Given the description of an element on the screen output the (x, y) to click on. 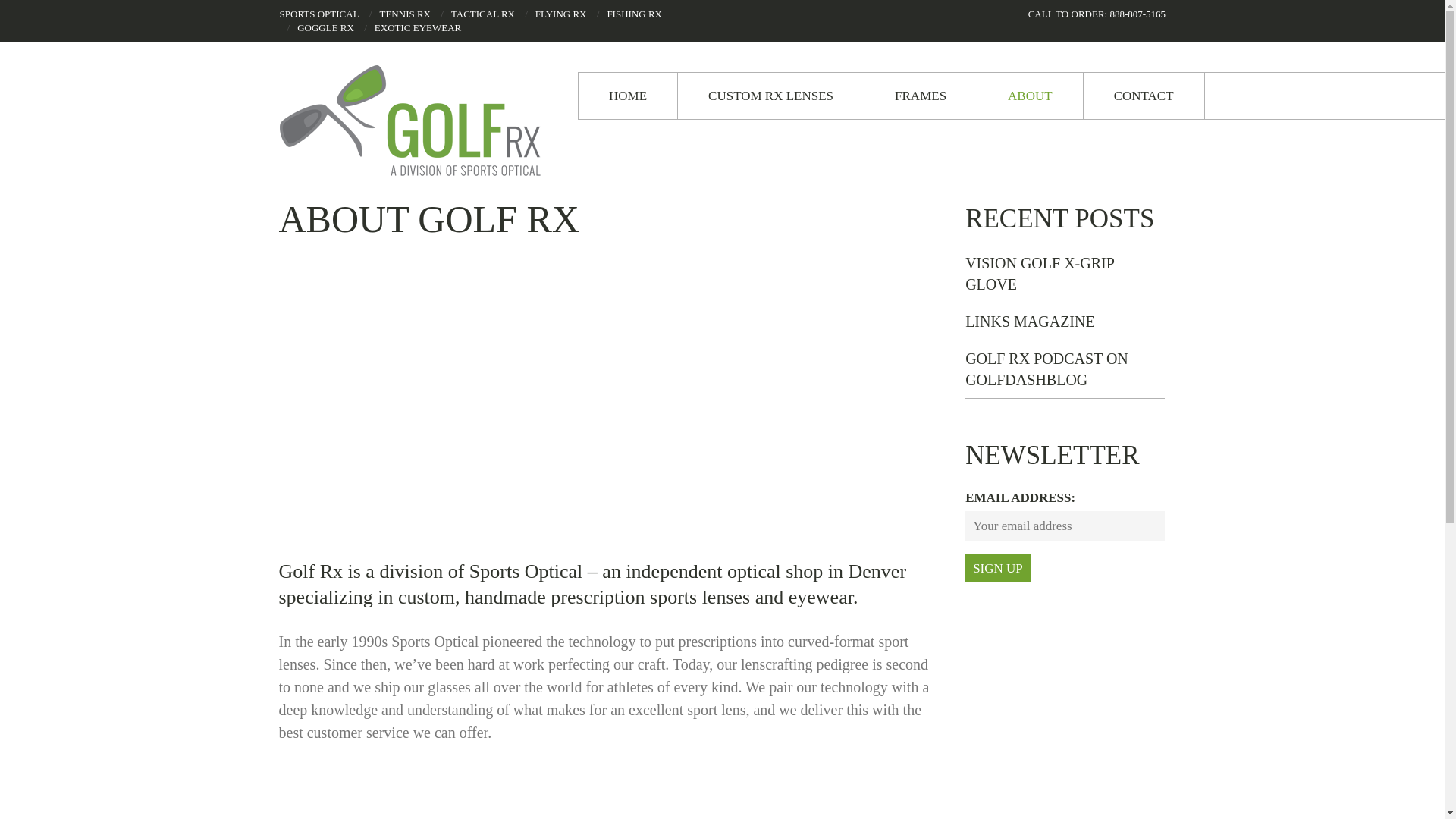
TACTICAL RX (483, 13)
GOLF RX PODCAST ON GOLFDASHBLOG (1046, 369)
FLYING RX (560, 13)
Sign up (997, 568)
GOGGLE RX (325, 27)
VISION GOLF X-GRIP GLOVE (1039, 273)
Sign up (997, 568)
CUSTOM RX LENSES (770, 95)
EXOTIC EYEWEAR (417, 27)
ABOUT (1029, 95)
Sports Optical (525, 571)
FISHING RX (634, 13)
FRAMES (920, 95)
Search (7, 14)
Golf RX (415, 120)
